Given the description of an element on the screen output the (x, y) to click on. 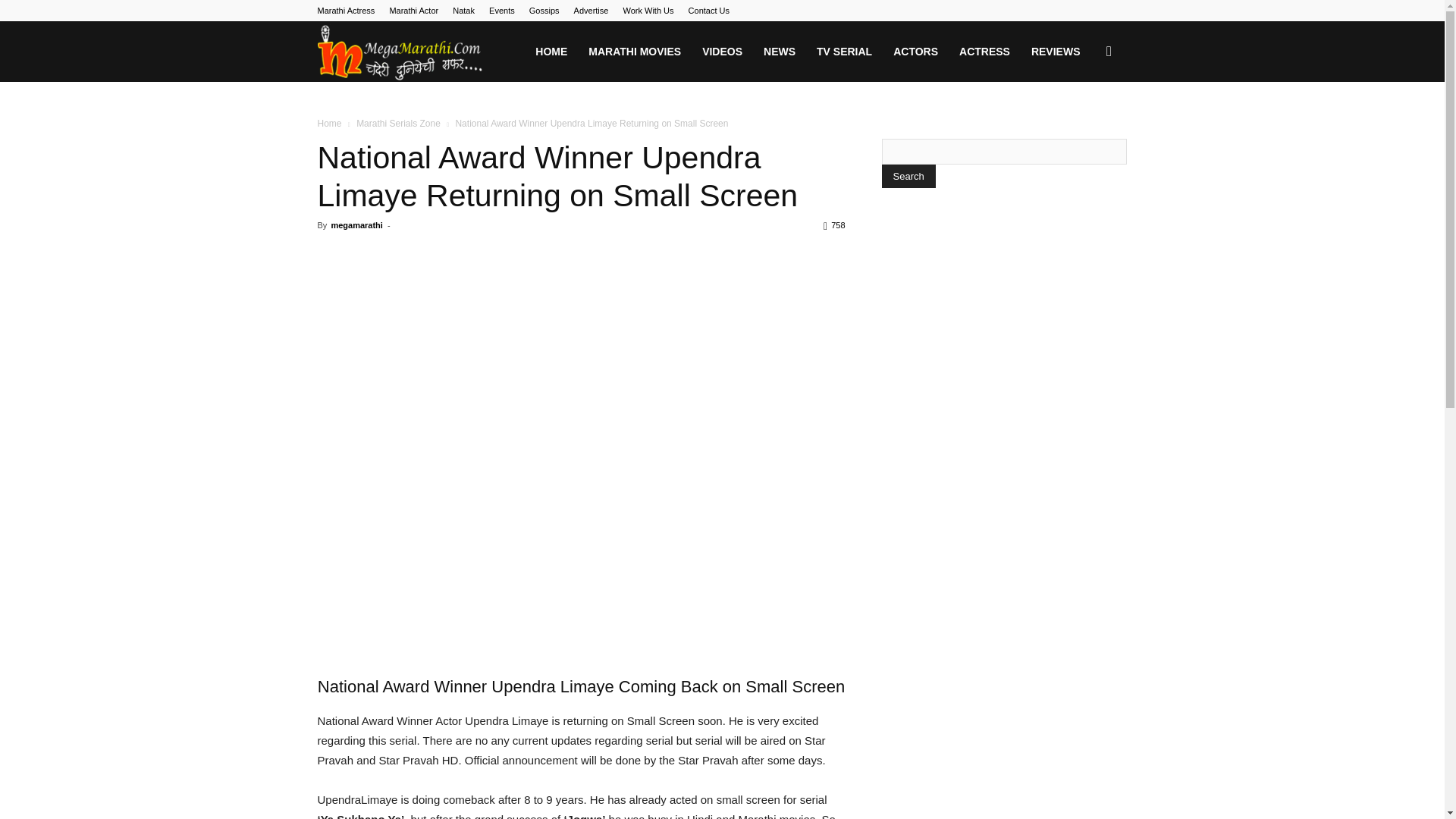
Work With Us (648, 10)
Marathi Actress (345, 10)
Advertise With Us (590, 10)
Gossips (544, 10)
Events (502, 10)
Natak (463, 10)
Marathi Actor (413, 10)
MegaMarathi.Com (400, 51)
Search (1085, 124)
MARATHI MOVIES (634, 51)
Search (907, 176)
Contact Us (708, 10)
Advertise (590, 10)
Jobs (648, 10)
